Given the description of an element on the screen output the (x, y) to click on. 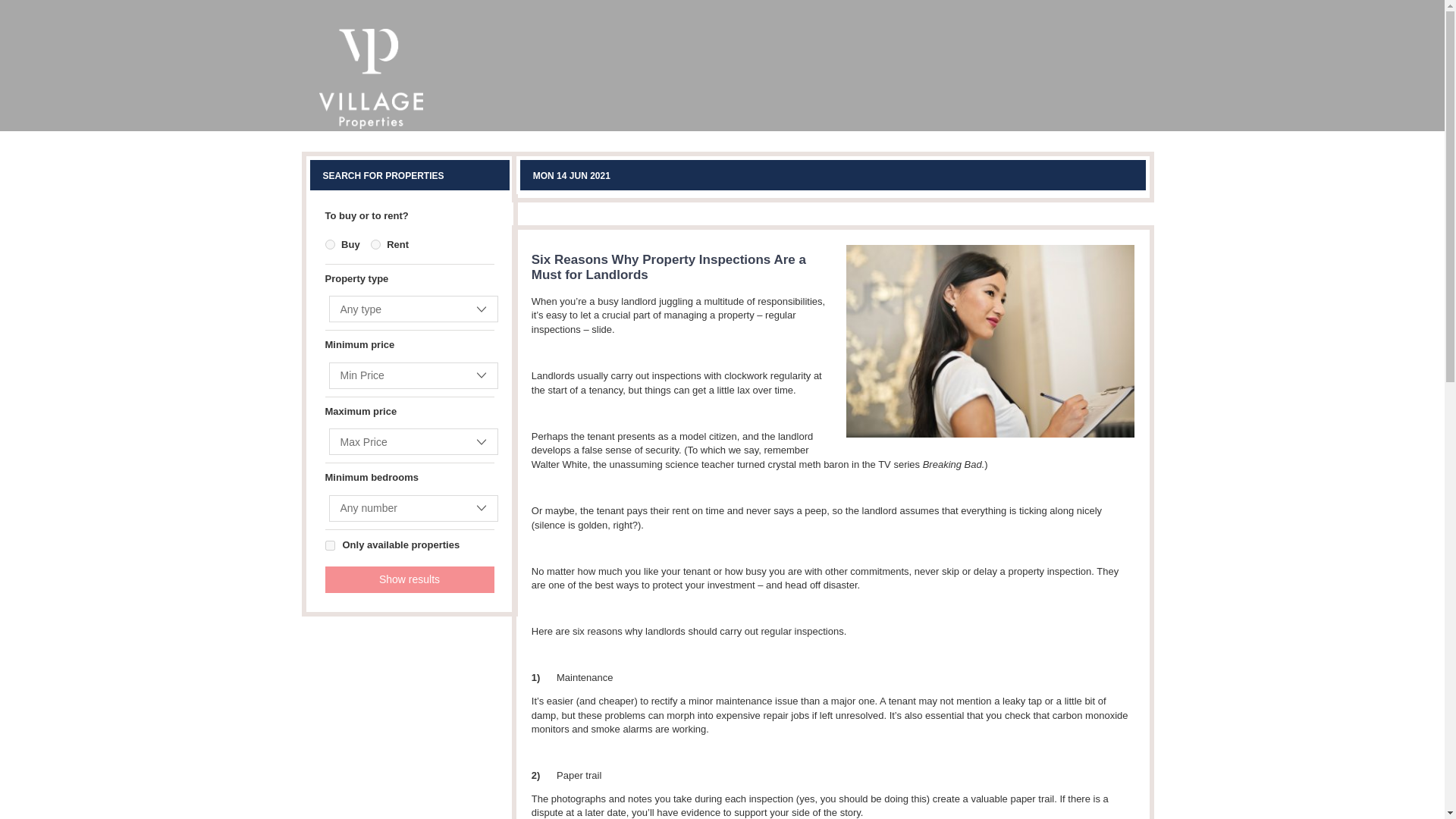
available (329, 545)
Show results (408, 579)
lettings (375, 244)
sales (329, 244)
